Given the description of an element on the screen output the (x, y) to click on. 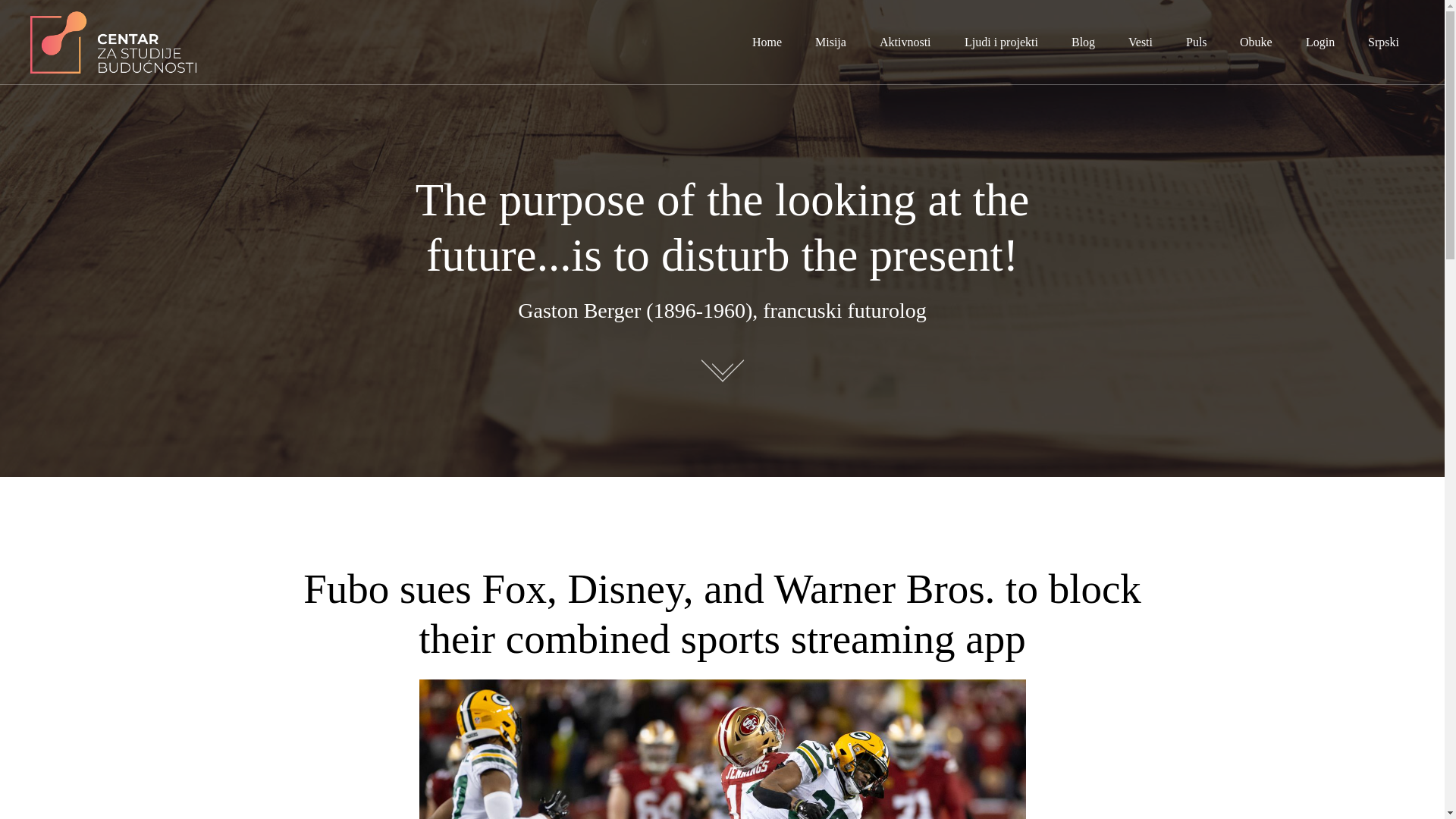
Blog (1082, 42)
Obuke (1256, 42)
Aktivnosti (905, 42)
Ljudi i projekti (1000, 42)
Puls (1196, 42)
Srpski (1383, 42)
Vesti (1140, 42)
Misija (830, 42)
Login (1320, 42)
Home (766, 42)
